Given the description of an element on the screen output the (x, y) to click on. 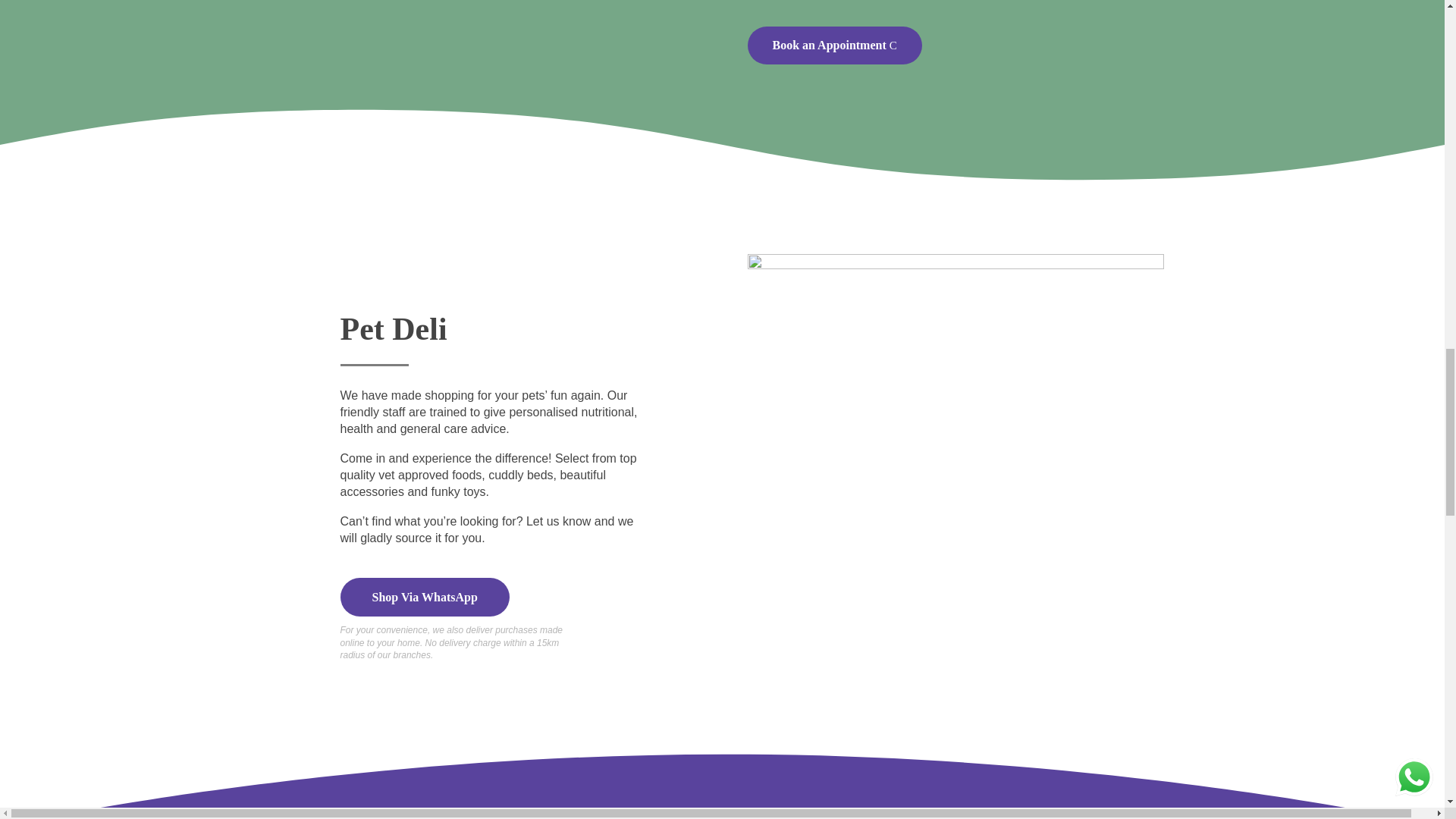
How-twisted-whiskers-pet-spa-works-video (474, 89)
we-love-cats-at-pet-grooming (1131, 85)
